Given the description of an element on the screen output the (x, y) to click on. 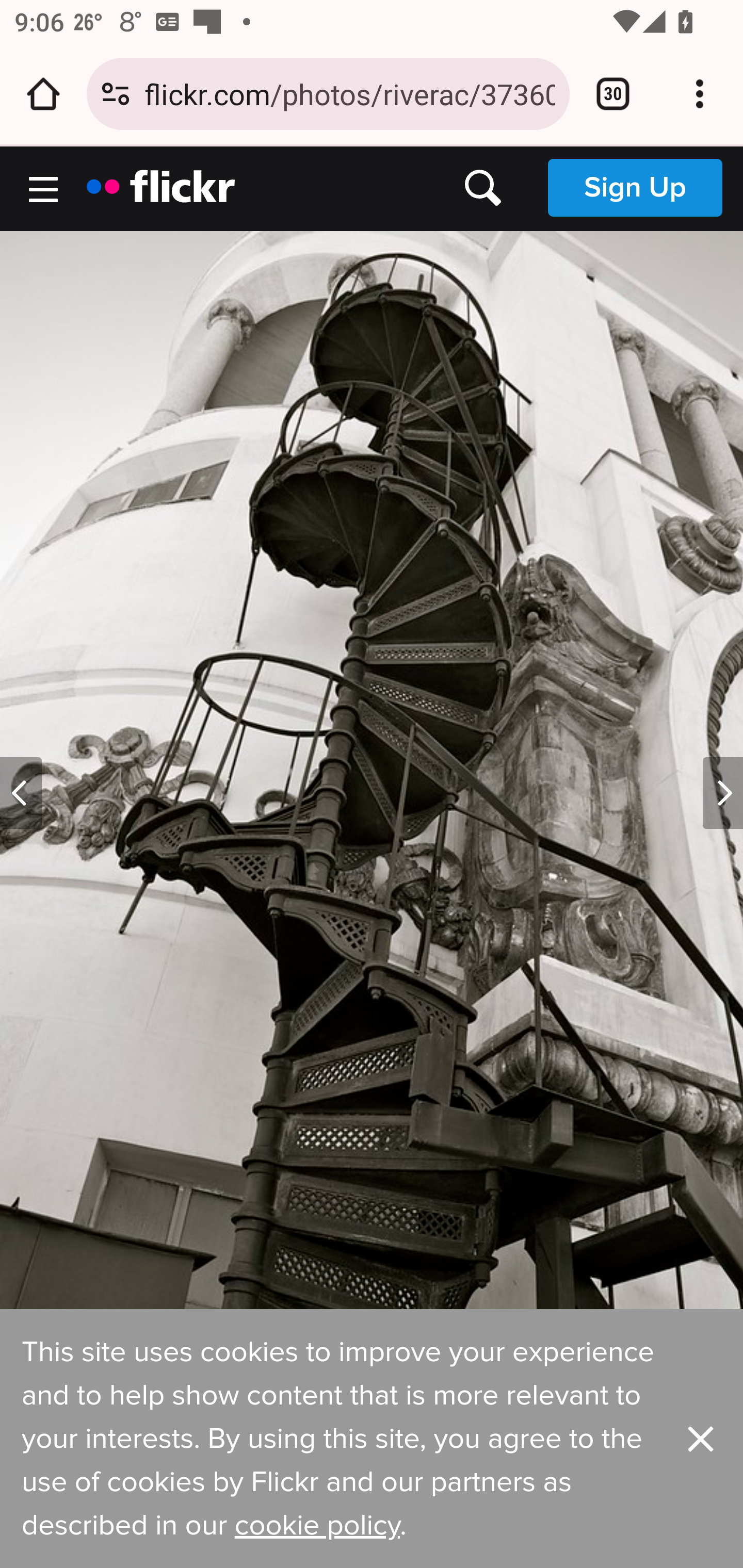
Open the home page (43, 93)
Connection is secure (115, 93)
Switch or close tabs (612, 93)
Customize and control Google Chrome (699, 93)
Sign Up Sign Up Sign Up (634, 187)
